Given the description of an element on the screen output the (x, y) to click on. 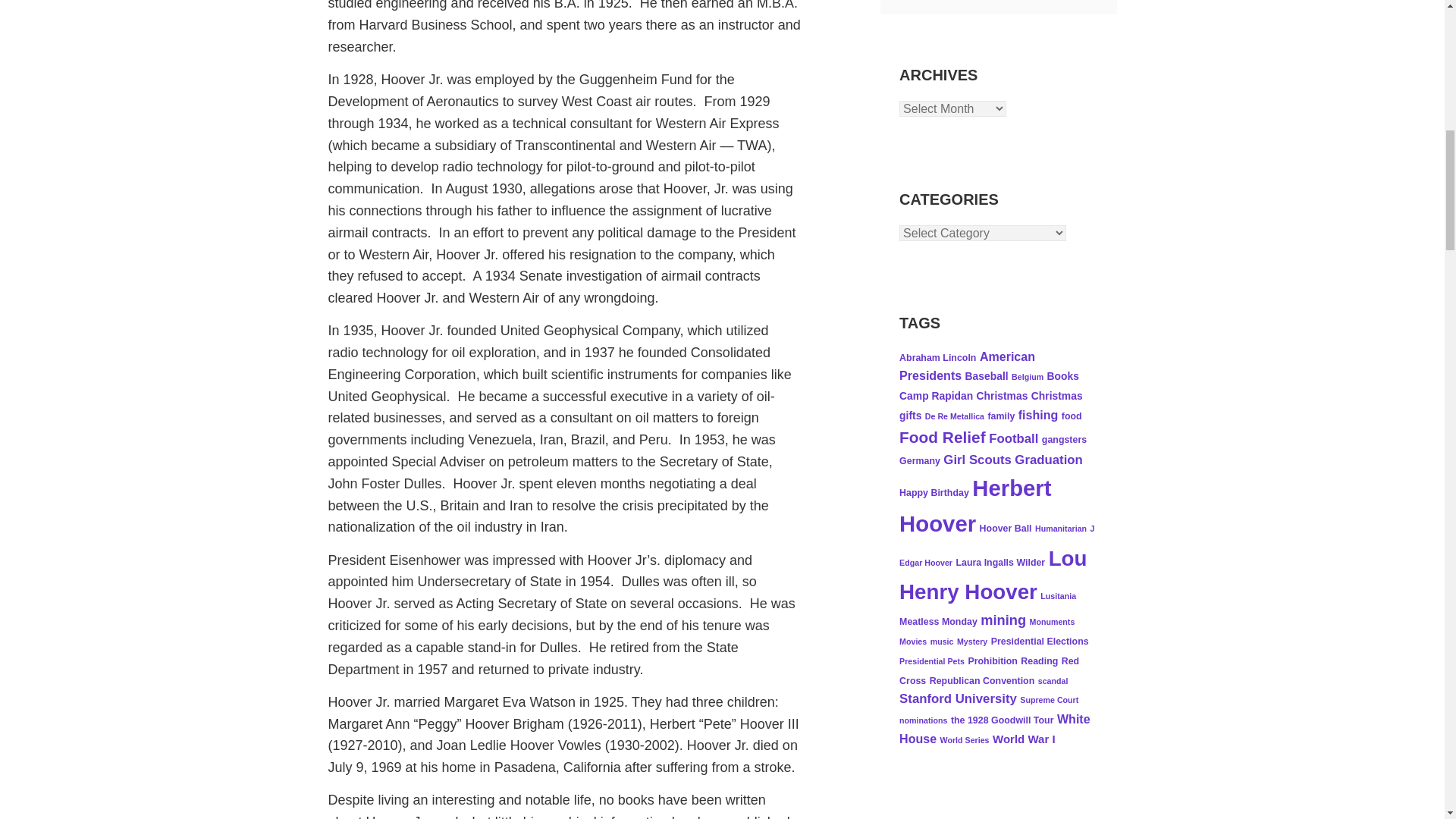
Abraham Lincoln (937, 357)
Christmas gifts (991, 405)
Football (1013, 438)
Camp Rapidan (935, 395)
family (1000, 416)
fishing (1037, 414)
De Re Metallica (954, 415)
Christmas (1001, 395)
food (1071, 416)
Baseball (987, 376)
Books (1062, 376)
American Presidents (967, 366)
Belgium (1027, 376)
Food Relief (942, 436)
